Given the description of an element on the screen output the (x, y) to click on. 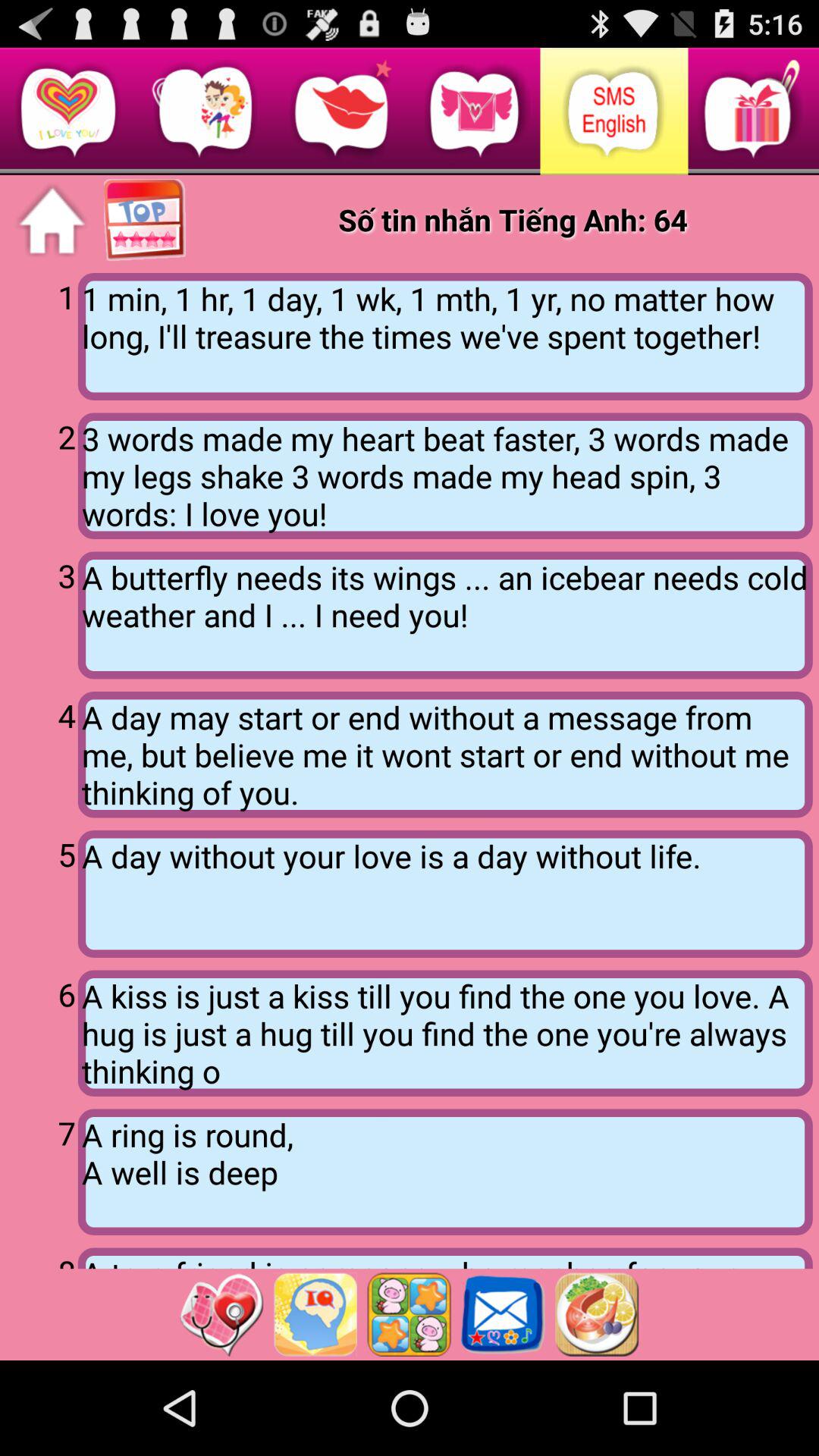
home page (51, 220)
